Given the description of an element on the screen output the (x, y) to click on. 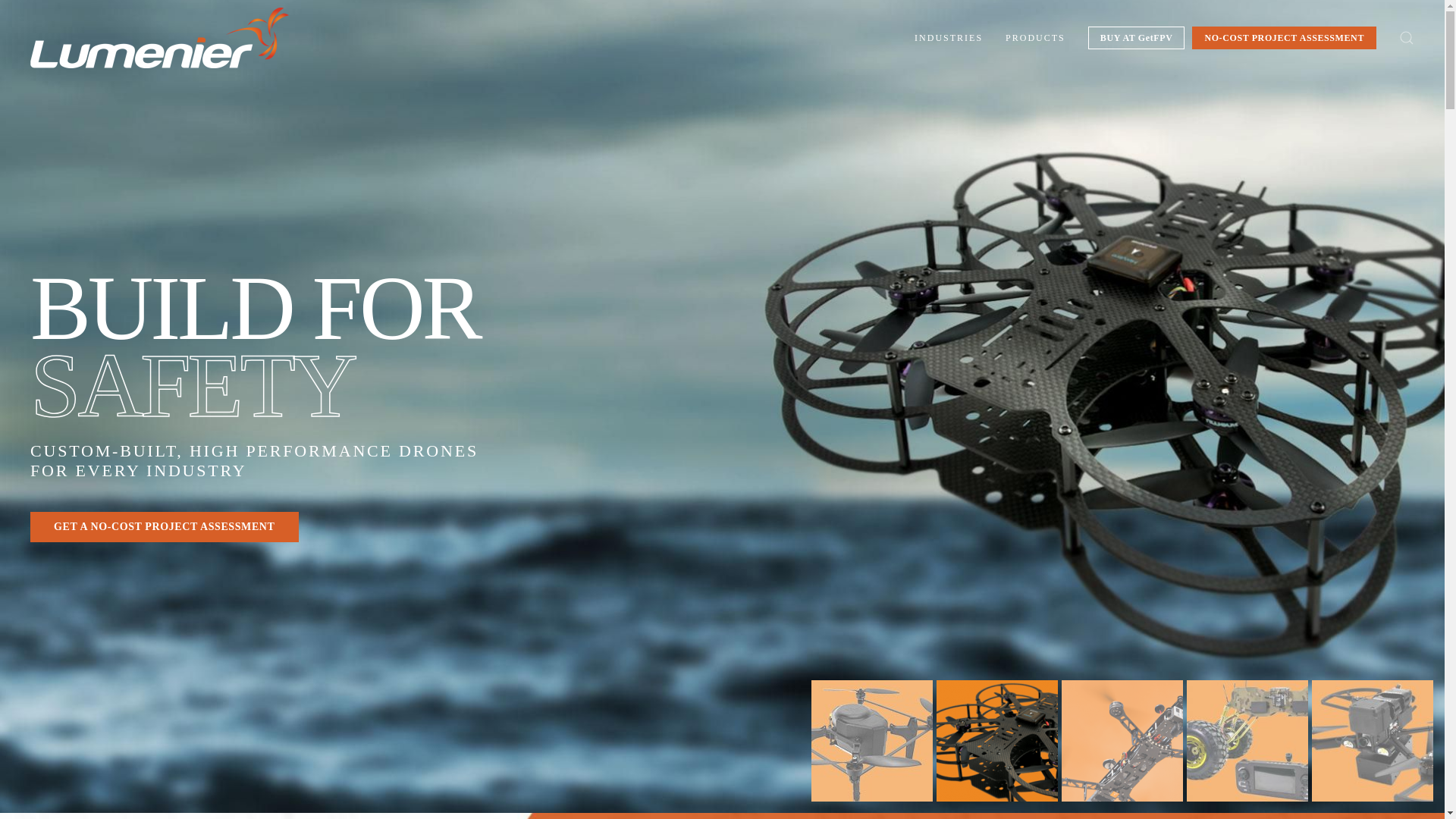
PRODUCTS (1035, 37)
BUY AT GetFPV (1136, 37)
INDUSTRIES (948, 37)
GET A NO-COST PROJECT ASSESSMENT (164, 526)
NO-COST PROJECT ASSESSMENT (1283, 37)
